Given the description of an element on the screen output the (x, y) to click on. 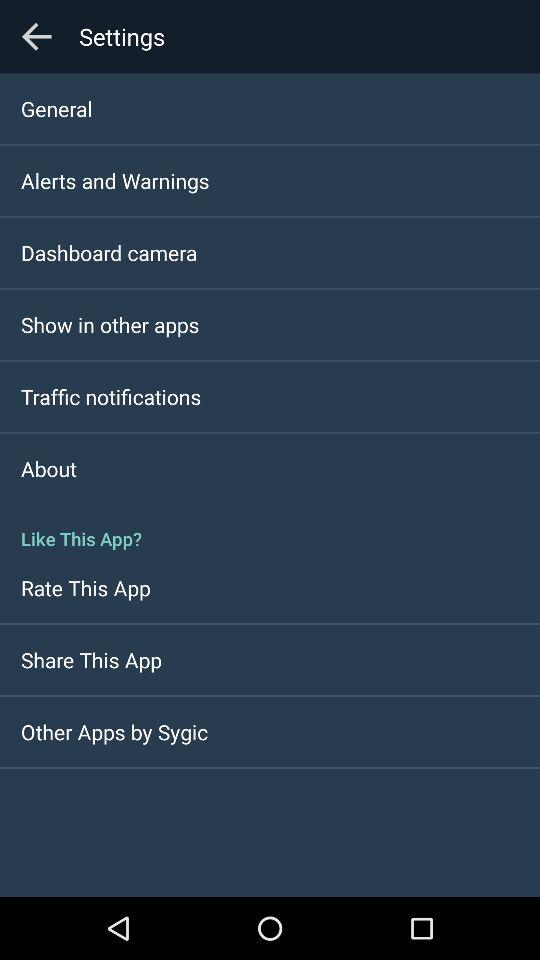
scroll to the show in other icon (110, 324)
